Given the description of an element on the screen output the (x, y) to click on. 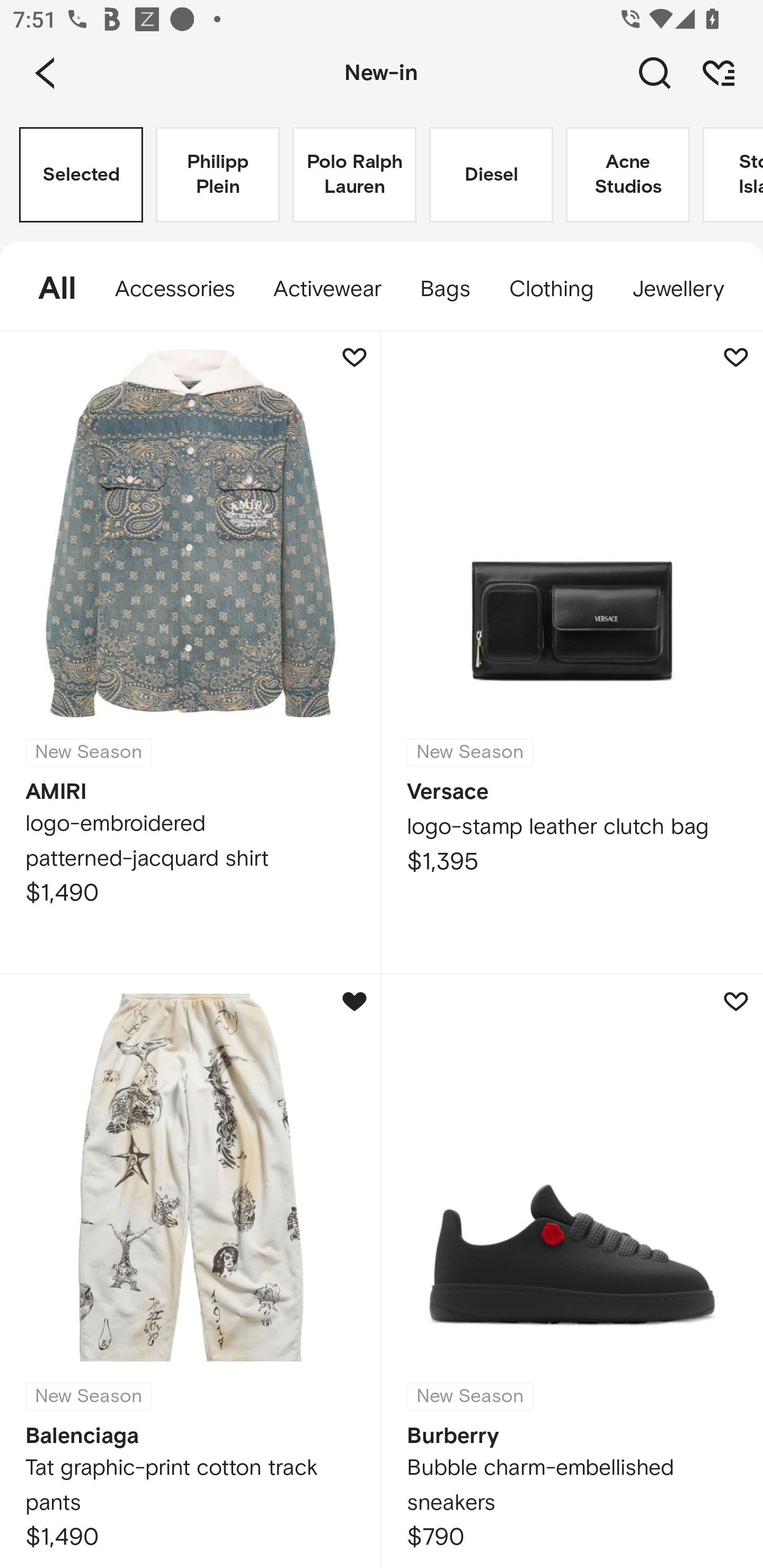
Selected (81, 174)
Philipp Plein (217, 174)
Polo Ralph Lauren (354, 174)
Diesel (490, 174)
Acne Studios (627, 174)
All (47, 289)
Accessories (174, 289)
Activewear (327, 289)
Bags (445, 289)
Clothing (550, 289)
Jewellery (677, 289)
